Given the description of an element on the screen output the (x, y) to click on. 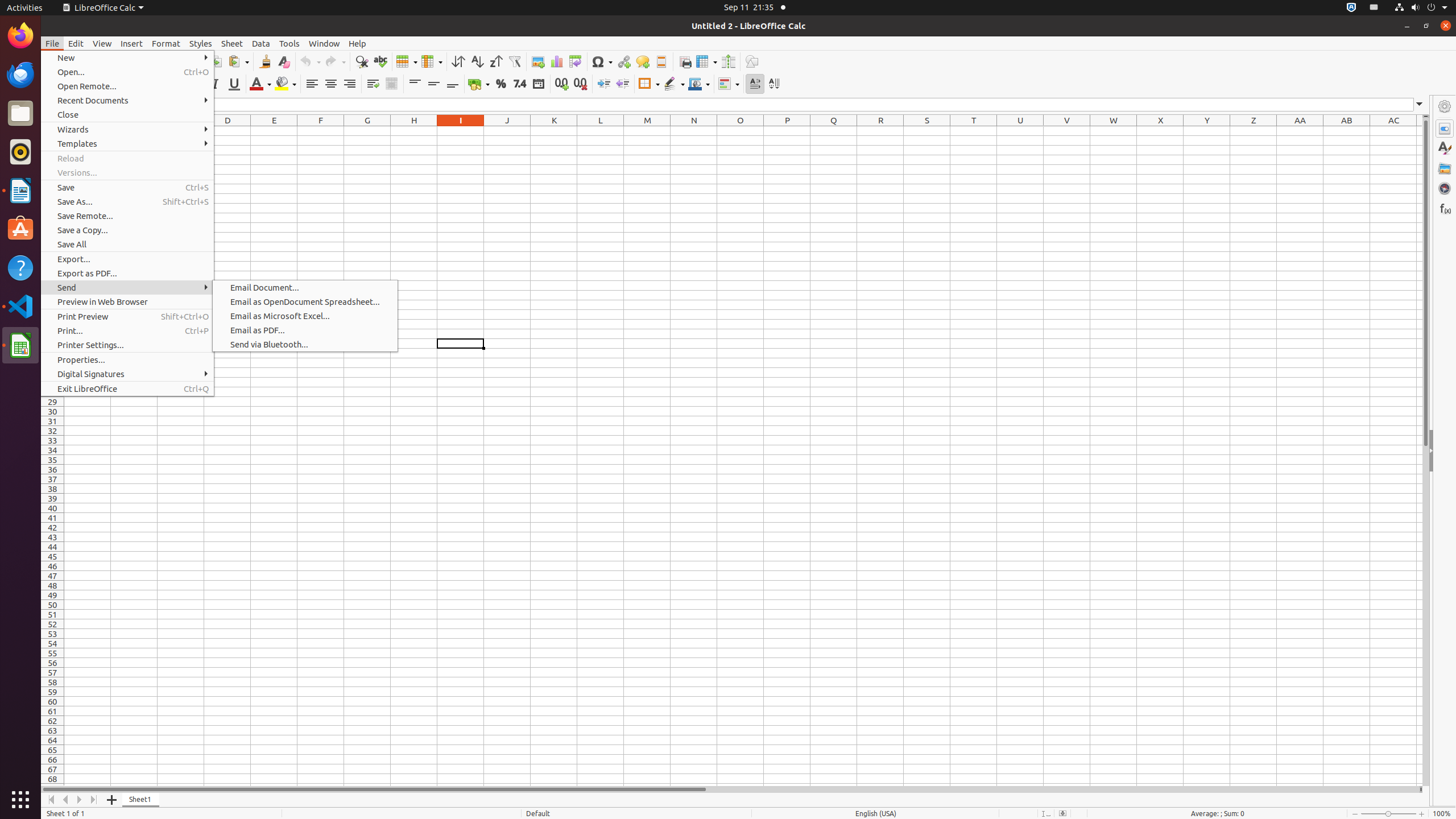
Wizards Element type: menu (126, 129)
Clone Element type: push-button (264, 61)
New Element type: menu (126, 57)
Insert Element type: menu (131, 43)
Undo Element type: push-button (309, 61)
